Given the description of an element on the screen output the (x, y) to click on. 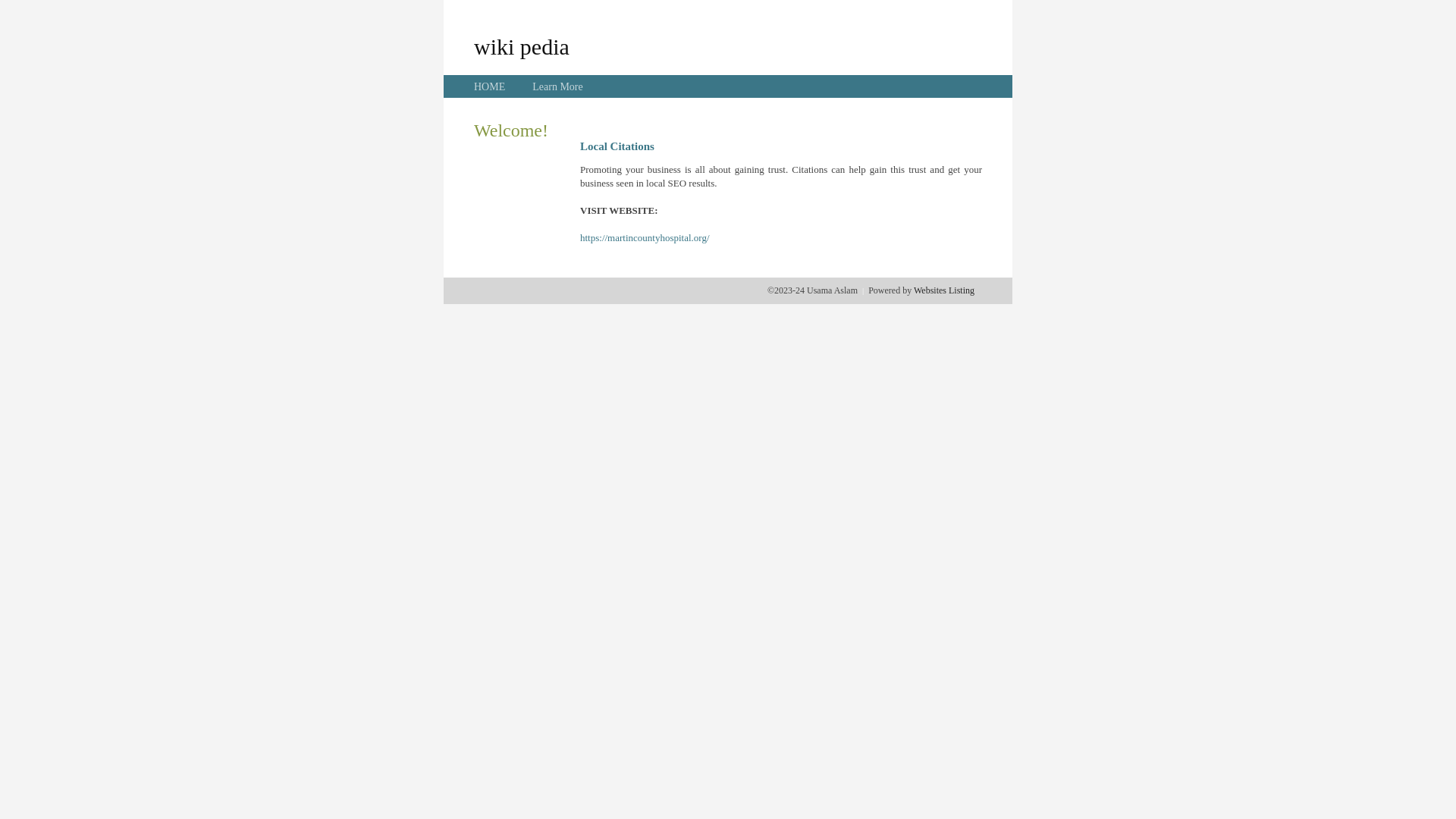
https://martincountyhospital.org/ Element type: text (644, 237)
Learn More Element type: text (557, 86)
Websites Listing Element type: text (943, 290)
HOME Element type: text (489, 86)
wiki pedia Element type: text (521, 46)
